Given the description of an element on the screen output the (x, y) to click on. 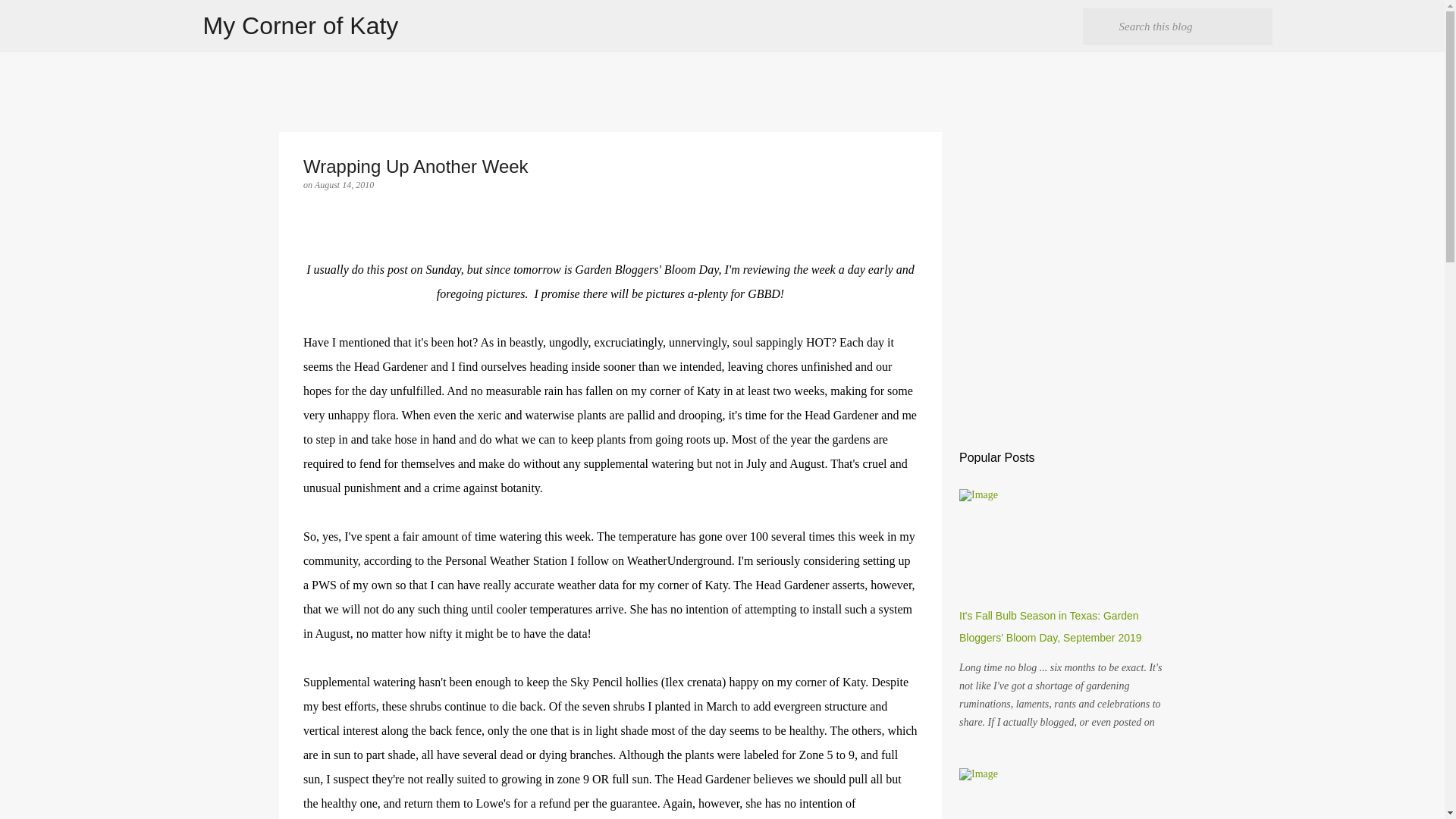
permanent link (344, 184)
My Corner of Katy (300, 25)
August 14, 2010 (344, 184)
